Given the description of an element on the screen output the (x, y) to click on. 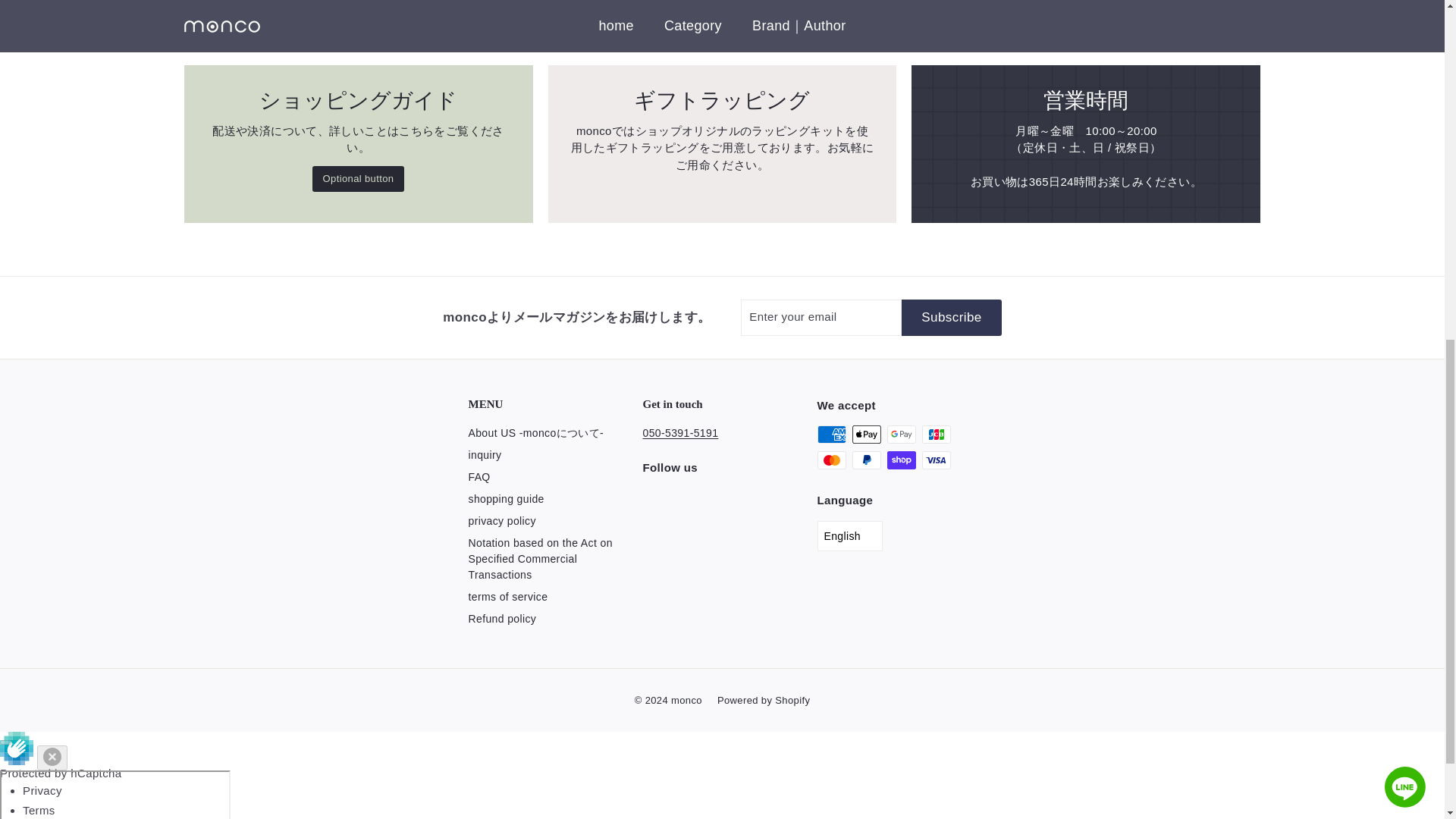
PayPal (865, 460)
Apple Pay (865, 434)
American Express (830, 434)
Visa (935, 460)
Mastercard (830, 460)
JCB (935, 434)
Google Pay (900, 434)
Shop Pay (900, 460)
